Given the description of an element on the screen output the (x, y) to click on. 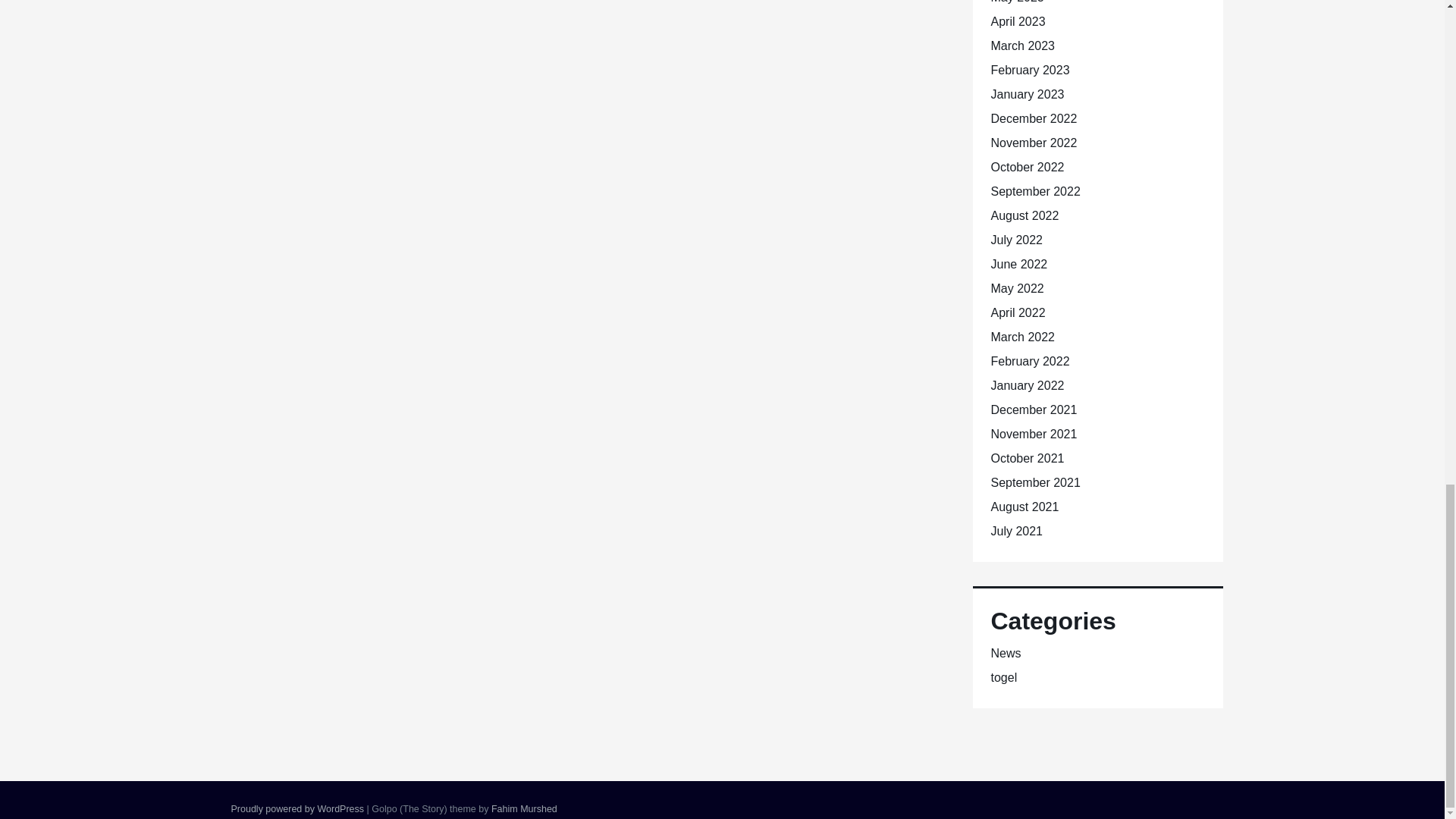
November 2022 (1033, 142)
January 2023 (1027, 93)
August 2022 (1024, 215)
May 2023 (1016, 2)
October 2022 (1027, 166)
February 2023 (1029, 69)
March 2023 (1022, 45)
July 2022 (1016, 239)
December 2022 (1033, 118)
April 2023 (1017, 21)
September 2022 (1035, 191)
